Given the description of an element on the screen output the (x, y) to click on. 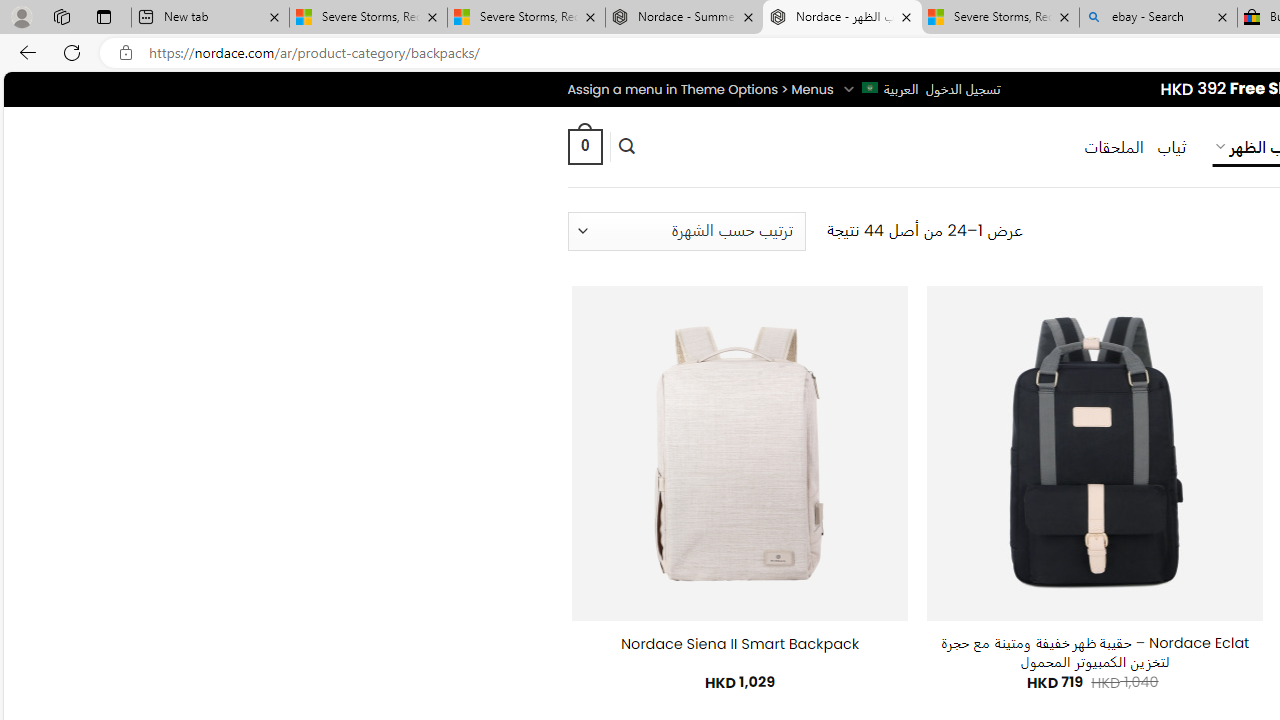
 0  (584, 146)
Nordace Siena II Smart Backpack (739, 643)
Assign a menu in Theme Options > Menus (700, 89)
Assign a menu in Theme Options > Menus (700, 89)
